Given the description of an element on the screen output the (x, y) to click on. 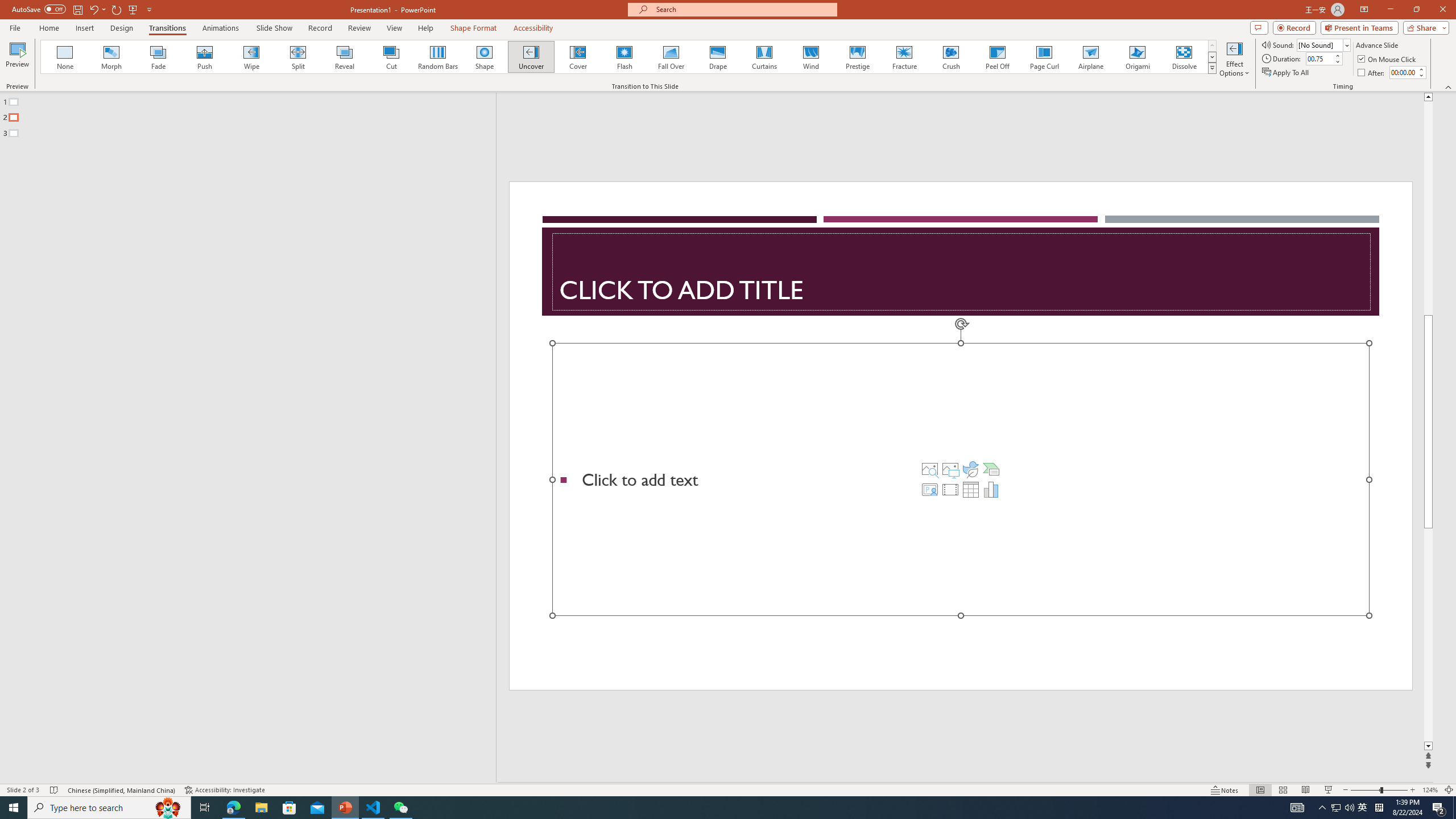
On Mouse Click (1387, 58)
Zoom 124% (1430, 790)
Wind (810, 56)
Duration (1319, 58)
